Given the description of an element on the screen output the (x, y) to click on. 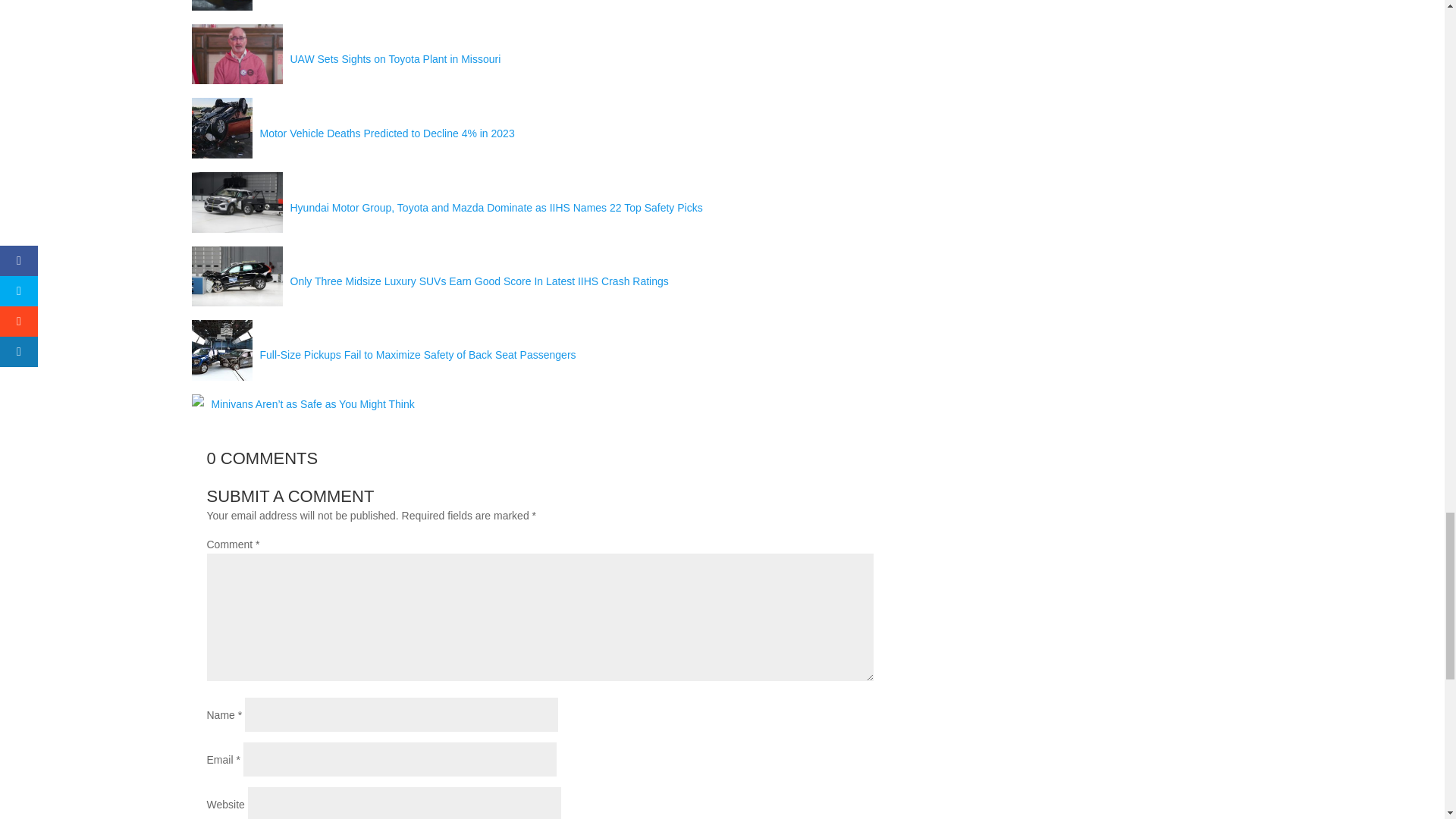
UAW Sets Sights on Toyota Plant in Missouri (394, 59)
